Given the description of an element on the screen output the (x, y) to click on. 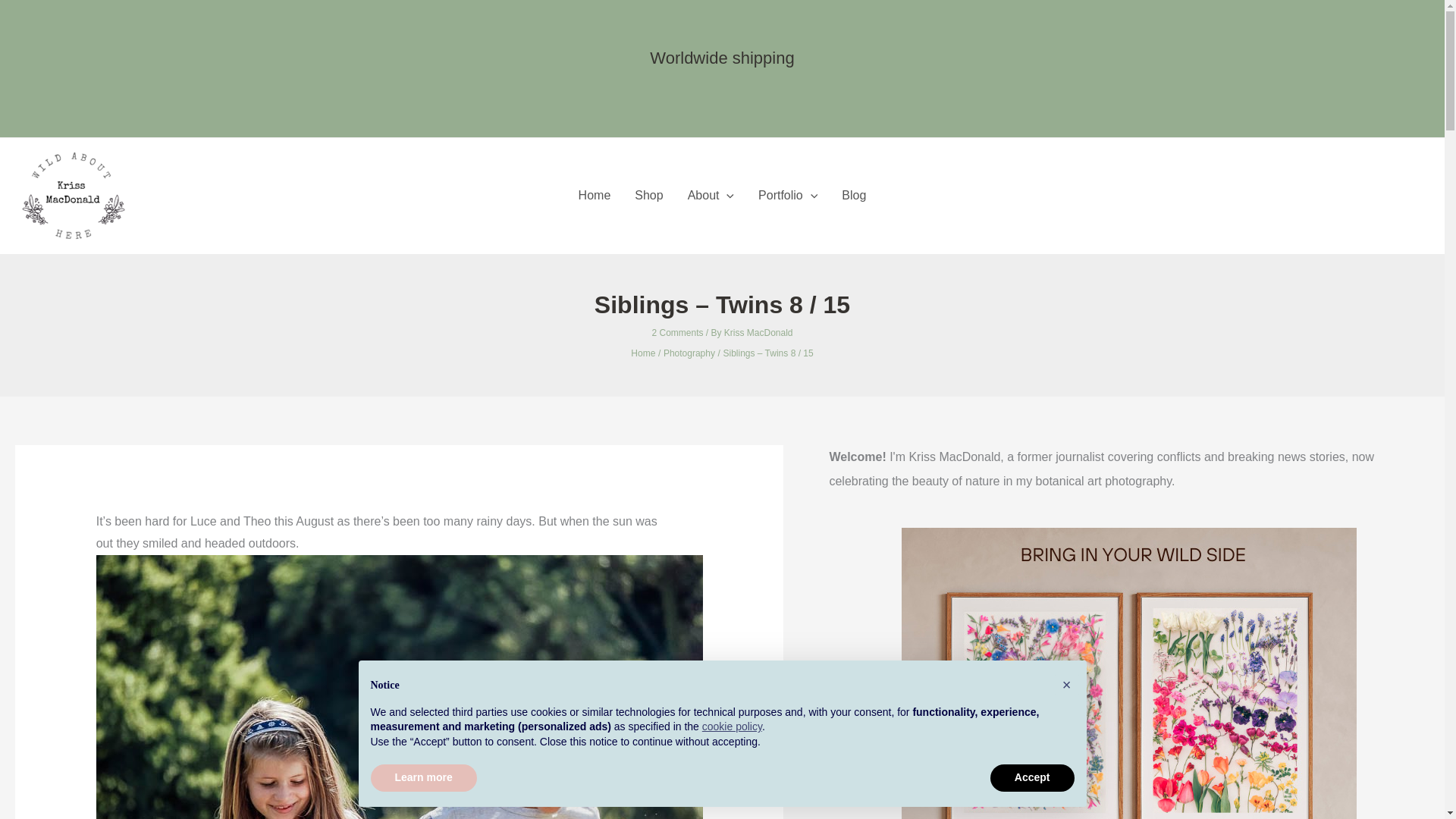
Home (642, 353)
Blog (853, 195)
2 Comments (676, 332)
Home (594, 195)
View all posts by  (758, 332)
blog posts (594, 195)
Portfolio (787, 195)
Kriss MacDonald (758, 332)
Photography (688, 353)
Shop (649, 195)
